Given the description of an element on the screen output the (x, y) to click on. 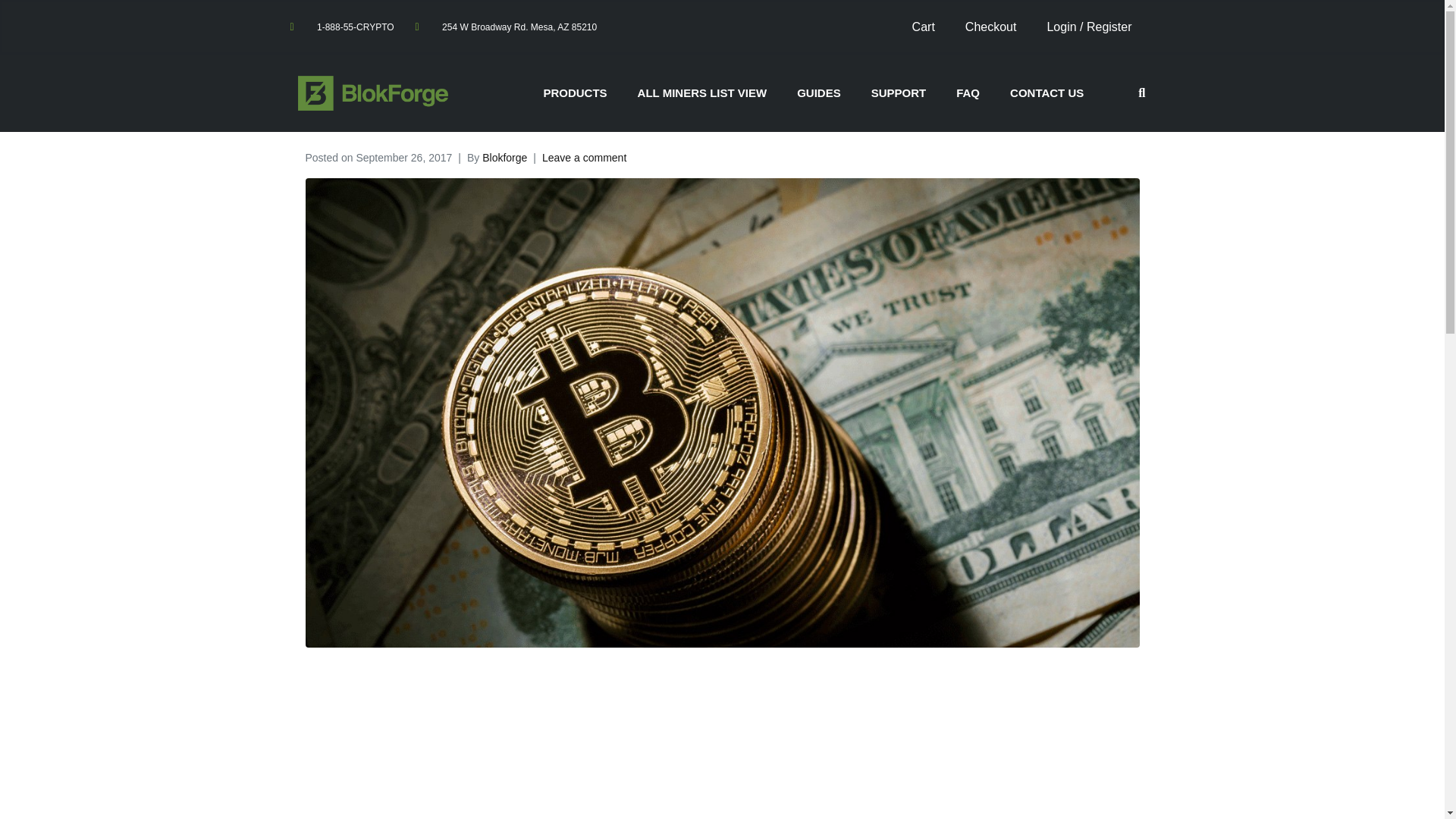
PRODUCTS (574, 92)
FAQ (967, 92)
Checkout (991, 27)
GUIDES (818, 92)
SUPPORT (899, 92)
Cart (923, 27)
ALL MINERS LIST VIEW (703, 92)
